Given the description of an element on the screen output the (x, y) to click on. 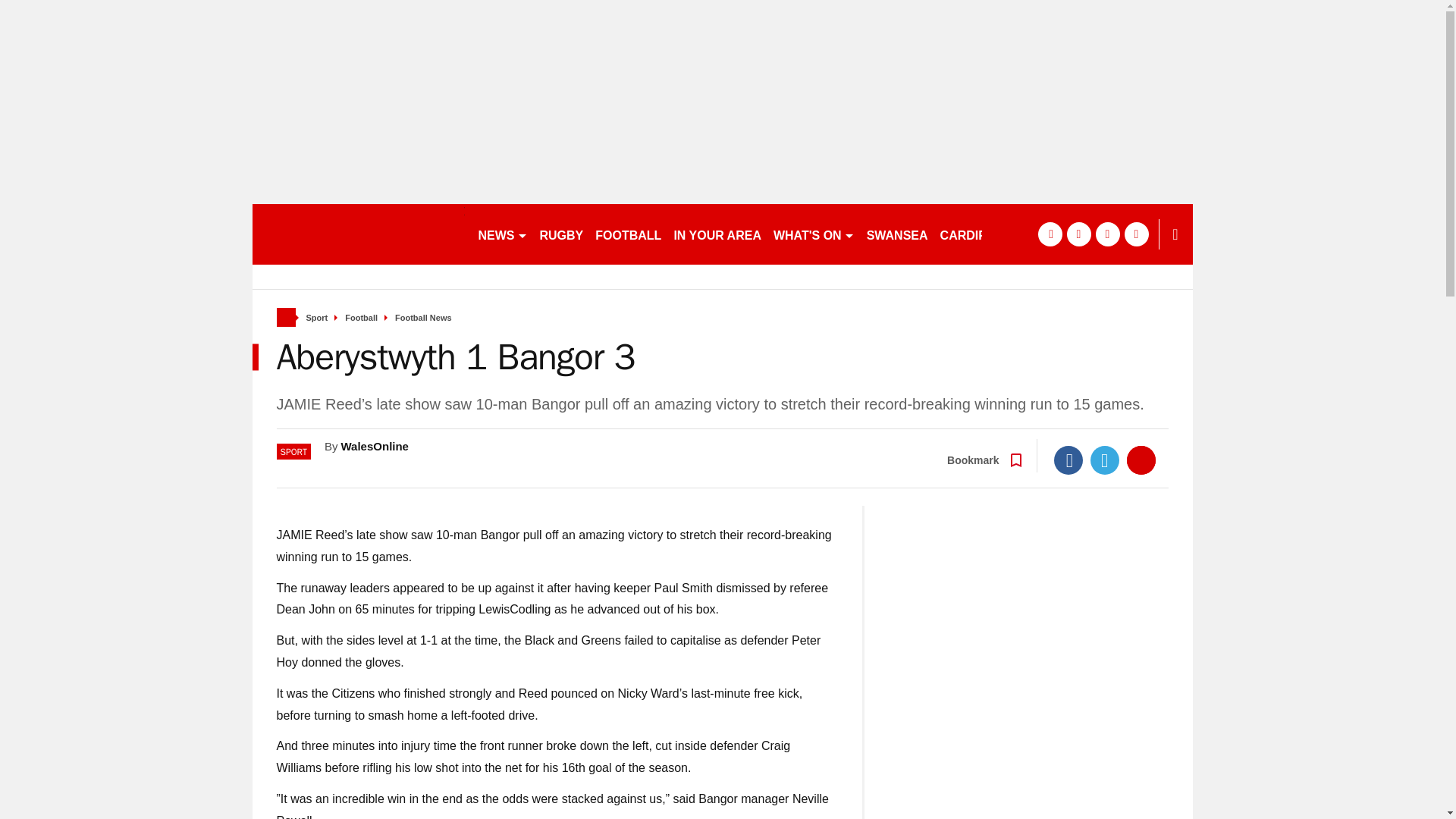
NEWS (501, 233)
FOOTBALL (627, 233)
Facebook (1068, 460)
Twitter (1104, 460)
IN YOUR AREA (716, 233)
instagram (1136, 233)
twitter (1077, 233)
RUGBY (561, 233)
SWANSEA (897, 233)
walesonline (357, 233)
